Given the description of an element on the screen output the (x, y) to click on. 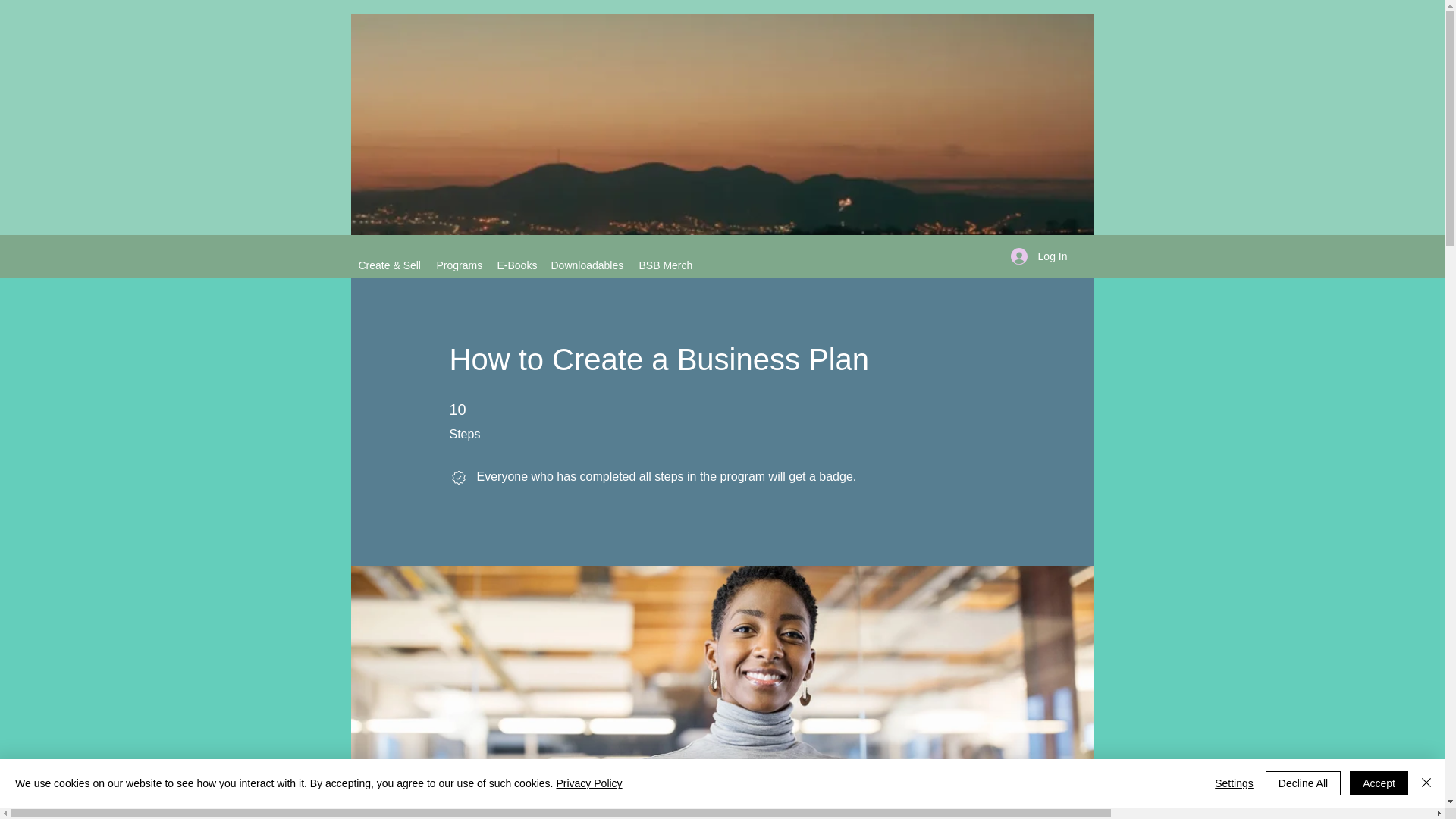
Privacy Policy (588, 783)
Log In (1039, 256)
Accept (1378, 783)
Decline All (1302, 783)
BSB Merch (664, 265)
Downloadables (586, 265)
E-Books (516, 265)
Programs (459, 265)
